Given the description of an element on the screen output the (x, y) to click on. 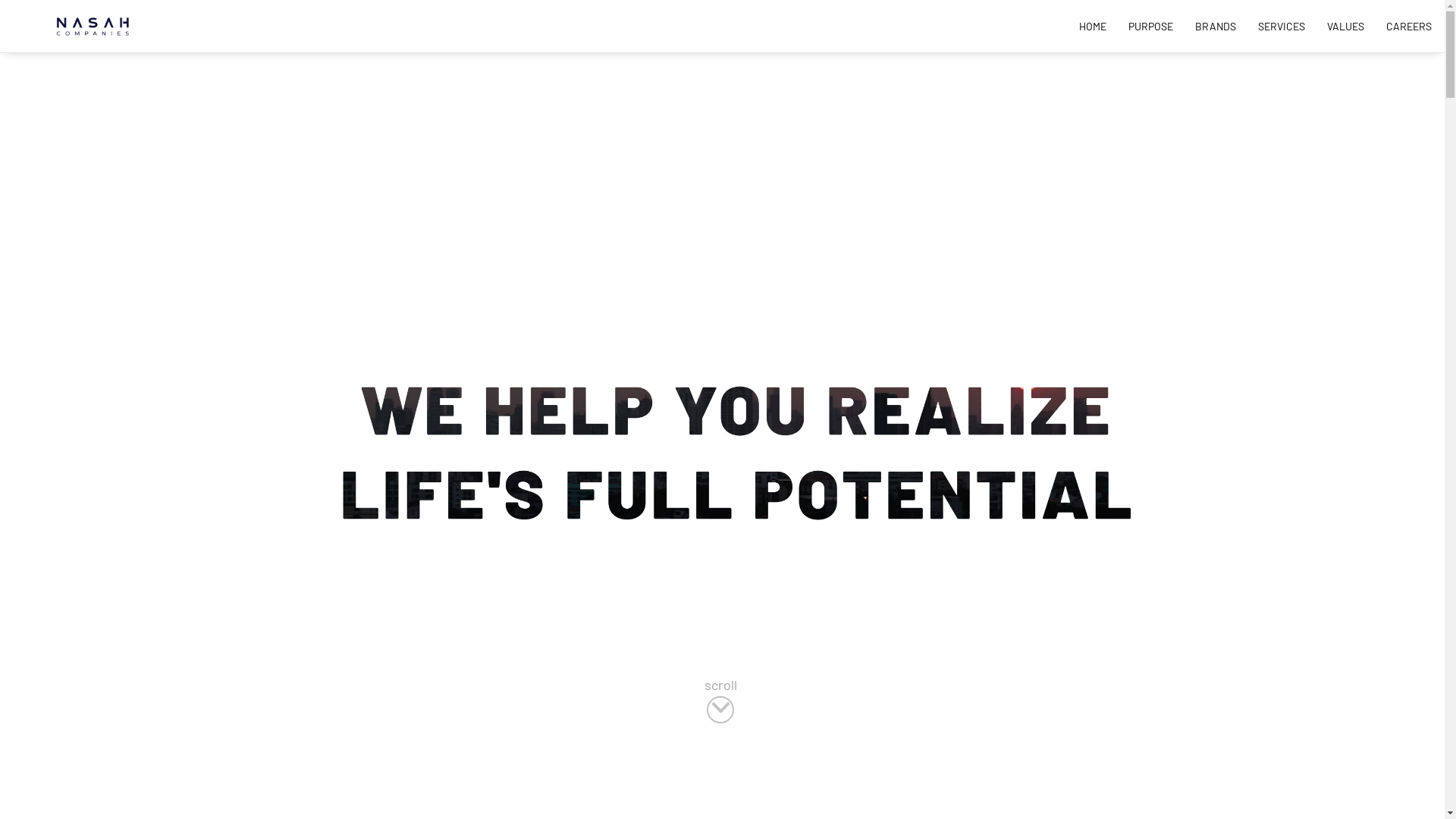
HOME Element type: text (1092, 25)
SERVICES Element type: text (1281, 25)
CAREERS Element type: text (1408, 25)
VALUES Element type: text (1345, 25)
PURPOSE Element type: text (1150, 25)
BRANDS Element type: text (1215, 25)
